Given the description of an element on the screen output the (x, y) to click on. 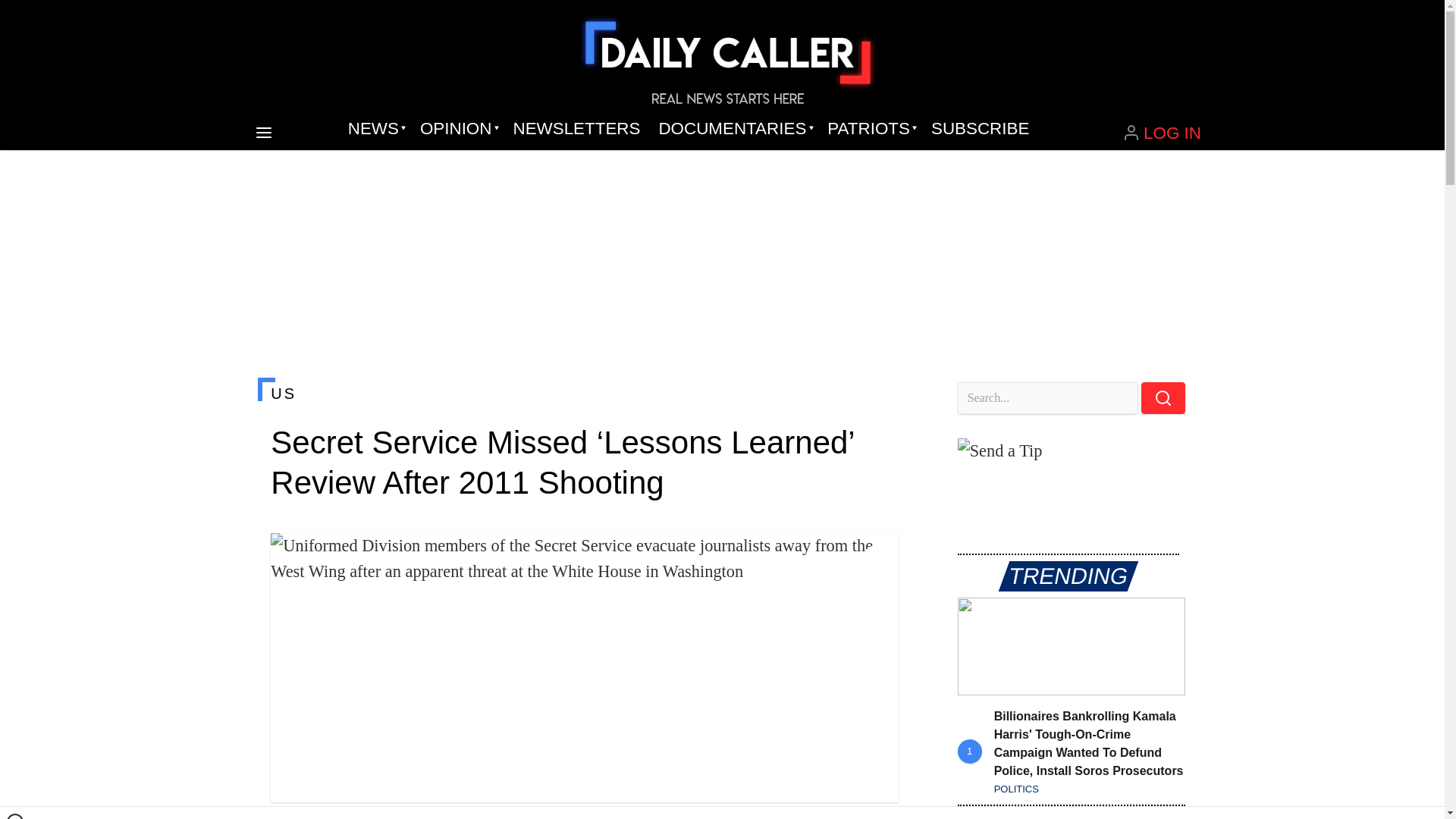
Toggle fullscreen (874, 556)
NEWS (374, 128)
NEWSLETTERS (576, 128)
OPINION (456, 128)
DOCUMENTARIES (733, 128)
SUBSCRIBE (979, 128)
PATRIOTS (869, 128)
Close window (14, 816)
US (584, 393)
